Given the description of an element on the screen output the (x, y) to click on. 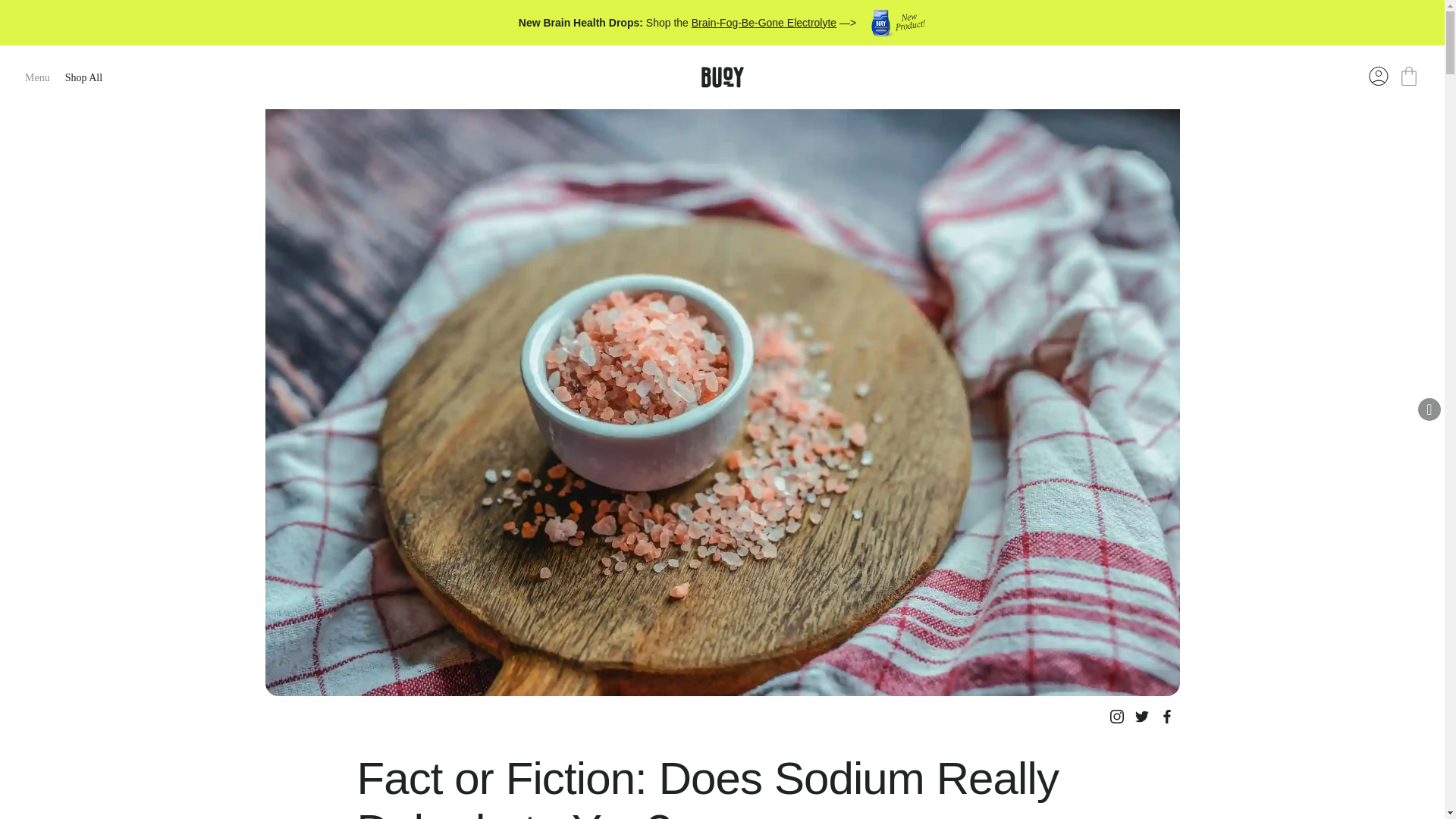
Buoy (721, 77)
Skip to content (90, 11)
Cart (1408, 76)
Shop All (83, 76)
Menu (36, 76)
